Given the description of an element on the screen output the (x, y) to click on. 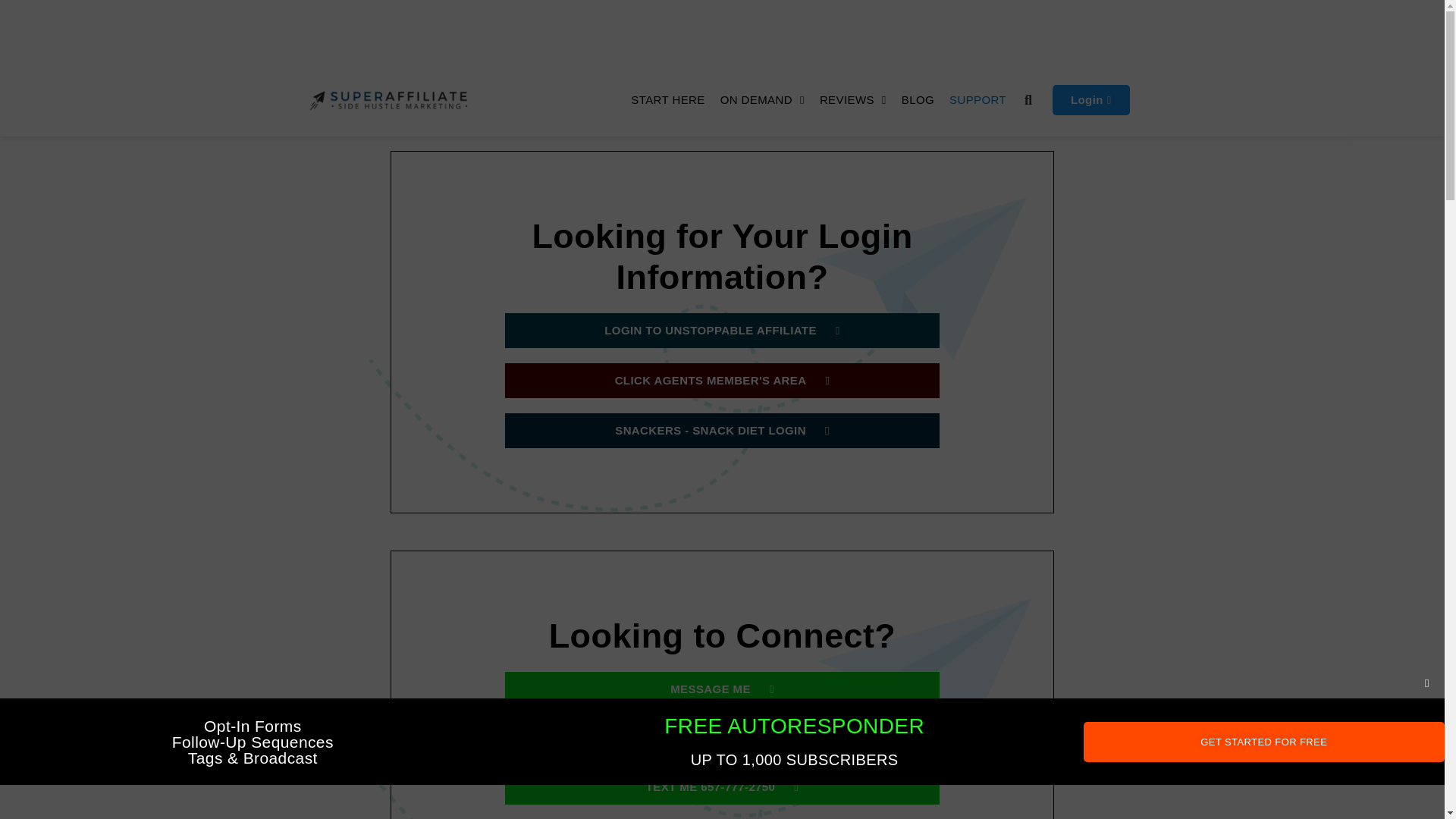
START HERE (667, 100)
CLICK AGENTS MEMBER'S AREA (722, 380)
SNACKERS - SNACK DIET LOGIN (722, 430)
SUPPORT (977, 100)
Advertisement (721, 28)
LOGIN TO UNSTOPPABLE AFFILIATE (722, 330)
TEXT ME 657-777-2750 (722, 786)
Login (1090, 100)
BLOG (917, 100)
REVIEWS (852, 100)
MESSAGE ME (722, 688)
ON DEMAND (762, 100)
